Given the description of an element on the screen output the (x, y) to click on. 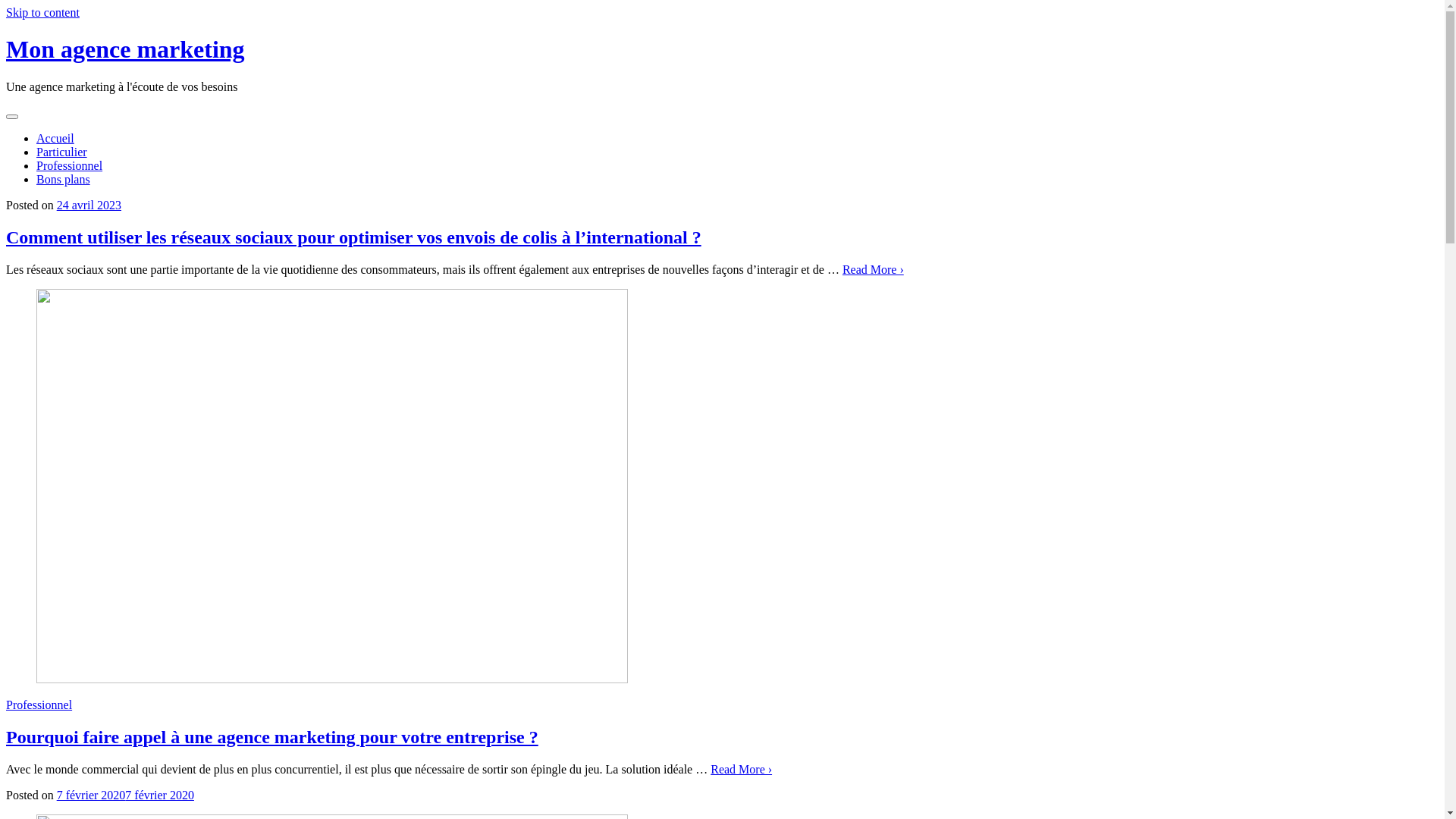
Mon agence marketing Element type: text (125, 48)
24 avril 2023 Element type: text (88, 204)
Professionnel Element type: text (69, 165)
Particulier Element type: text (61, 151)
Bons plans Element type: text (63, 178)
Skip to content Element type: text (42, 12)
Accueil Element type: text (55, 137)
Professionnel Element type: text (39, 704)
